Given the description of an element on the screen output the (x, y) to click on. 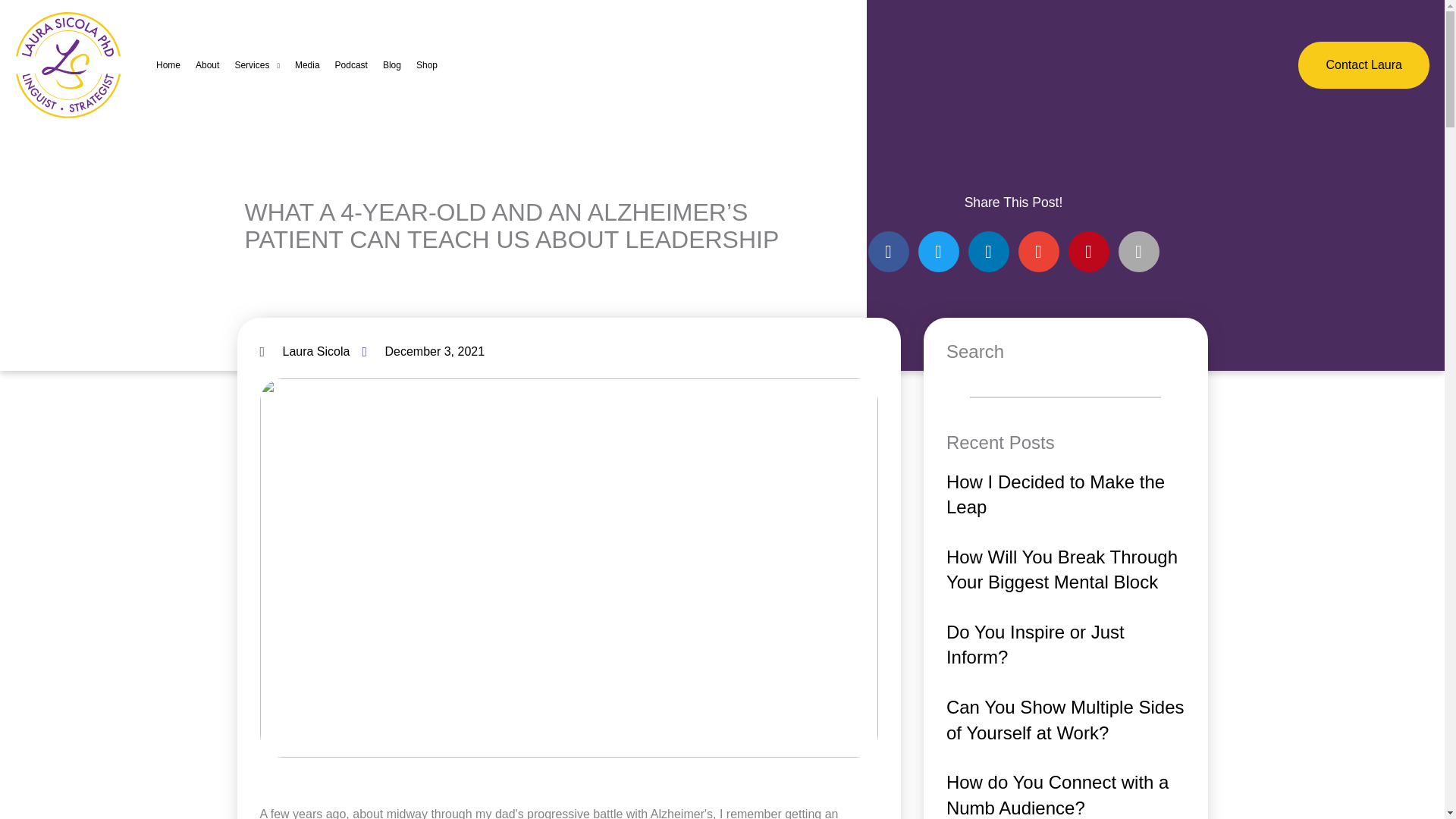
Media (306, 65)
Shop (427, 65)
About (207, 65)
December 3, 2021 (422, 351)
Podcast (351, 65)
Services (256, 65)
Blog (392, 65)
Home (167, 65)
Contact Laura (1363, 64)
Laura Sicola (304, 351)
